Given the description of an element on the screen output the (x, y) to click on. 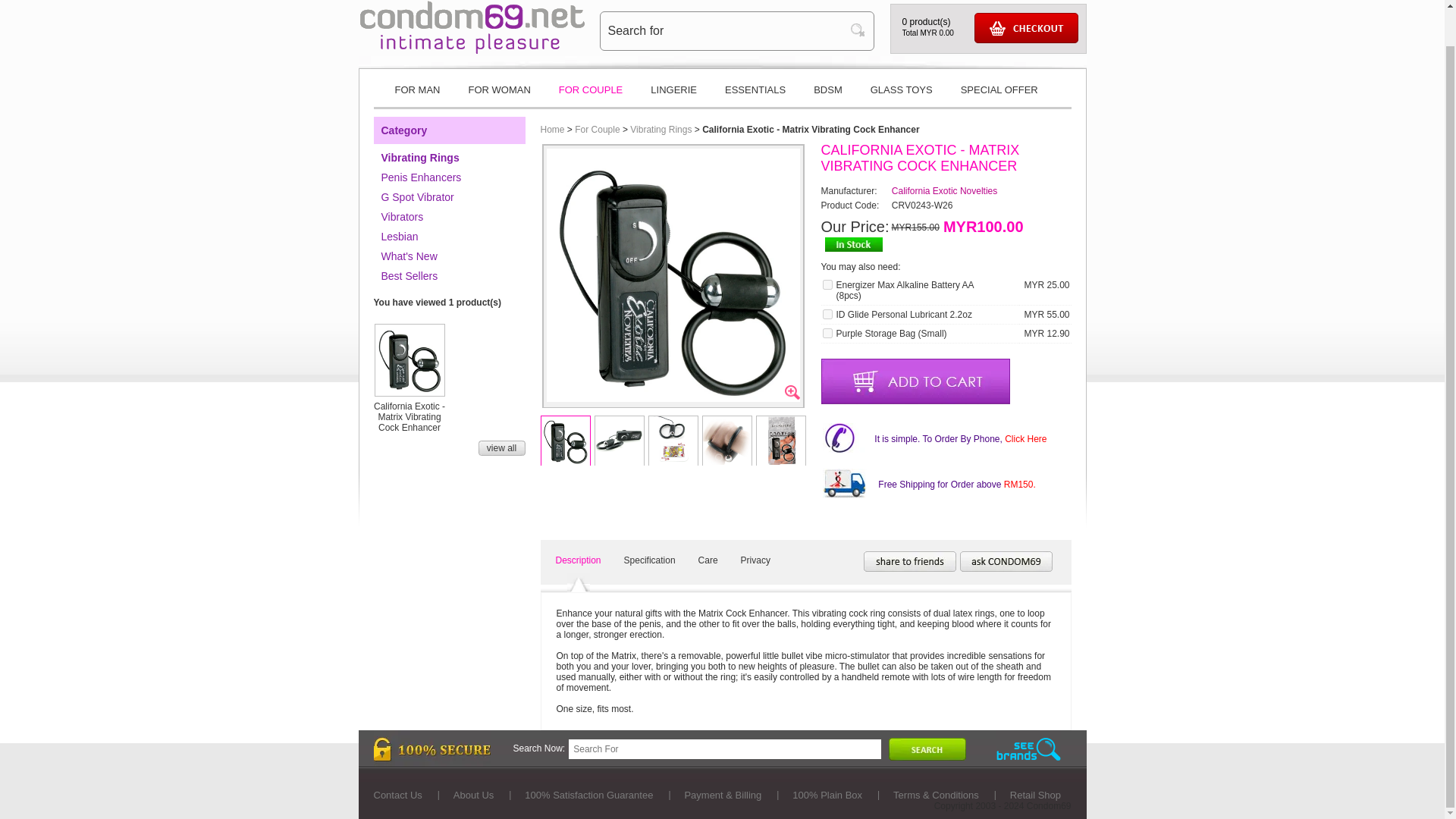
FOR MAN (416, 95)
on (826, 314)
Condom69 (471, 50)
Search (861, 30)
FOR WOMAN (498, 95)
Cart (1025, 28)
Search for (724, 30)
FOR COUPLE (590, 95)
Search for (724, 30)
on (826, 333)
on (826, 284)
FOR MAN (416, 95)
Condom69 (471, 27)
